Given the description of an element on the screen output the (x, y) to click on. 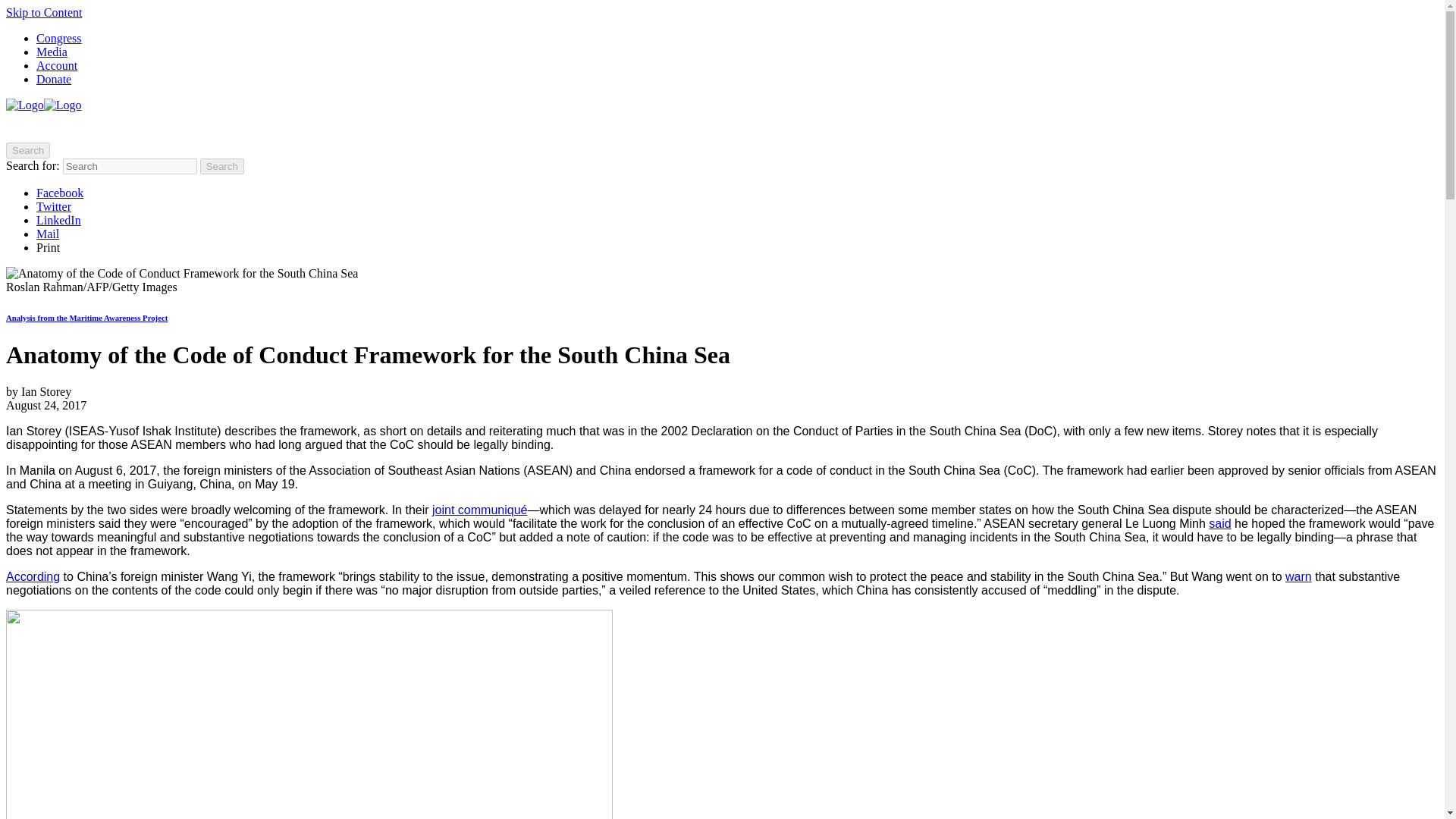
Account (56, 65)
Media (51, 51)
Donate (53, 78)
About (30, 127)
Programs (144, 127)
Experts (84, 127)
Skip to Content (43, 11)
Congress (58, 38)
